Given the description of an element on the screen output the (x, y) to click on. 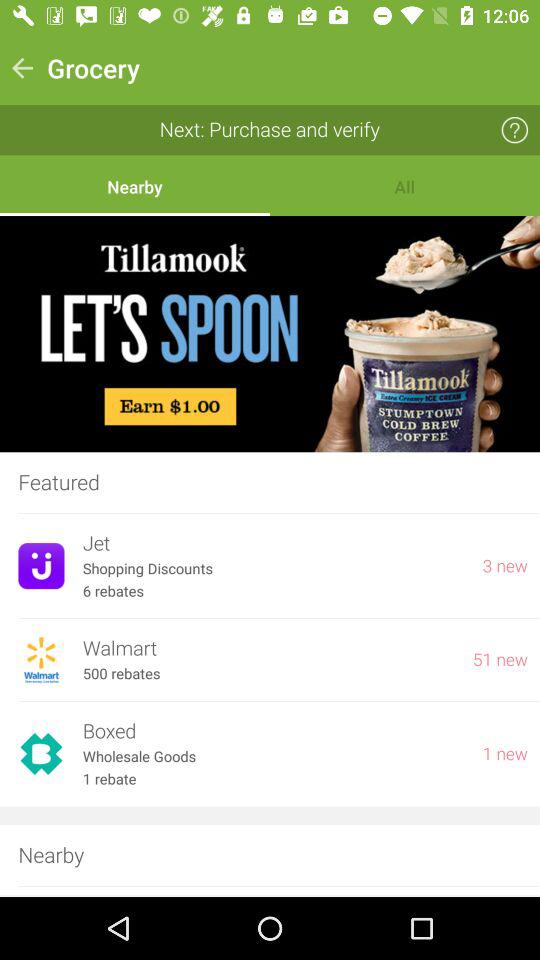
click the icon next to 3 new item (273, 568)
